Given the description of an element on the screen output the (x, y) to click on. 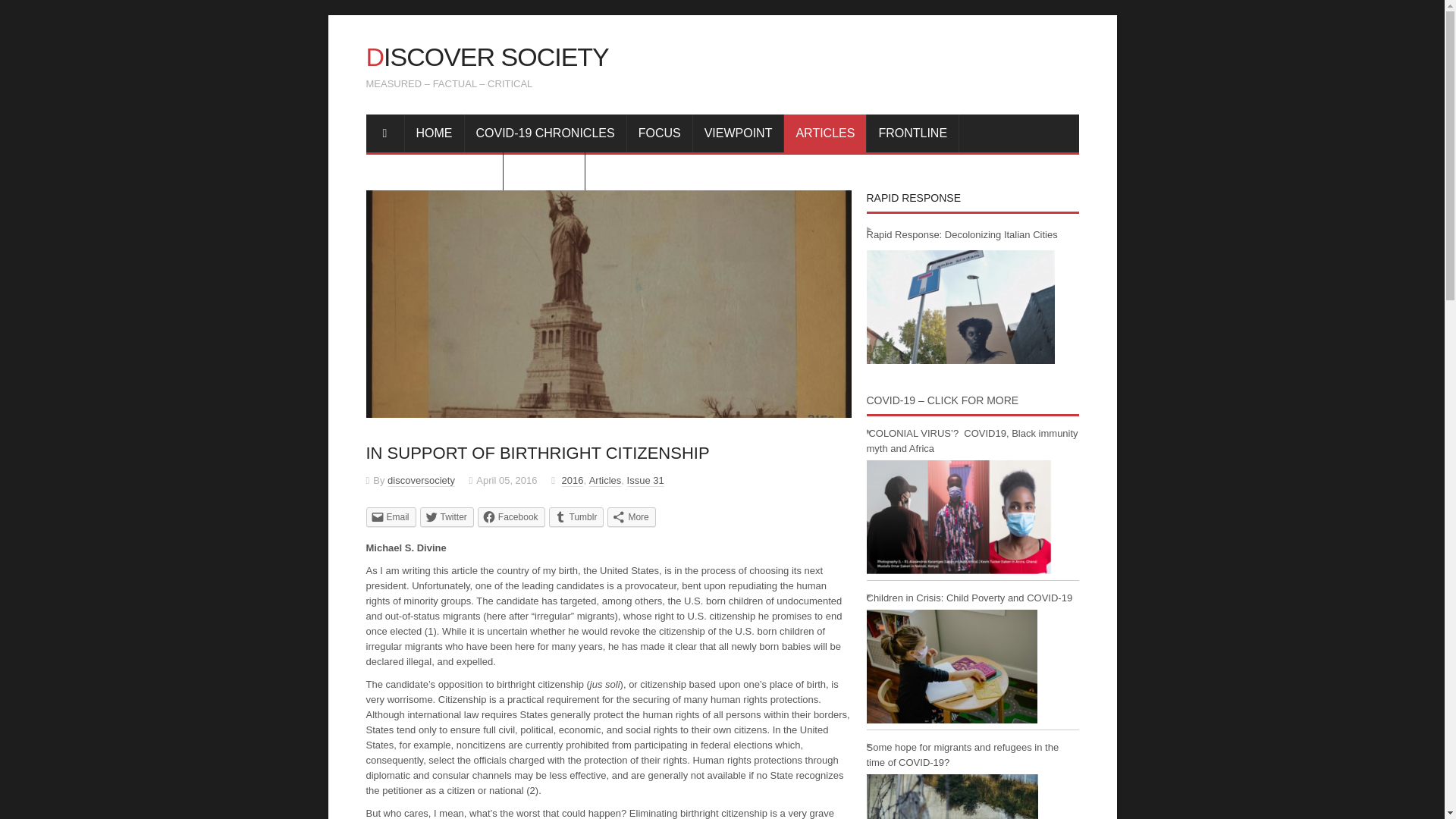
Issue 31 (645, 480)
discoversociety (420, 480)
HOME (434, 132)
Click to share on Tumblr (576, 516)
Tumblr (576, 516)
FOCUS (660, 132)
Click to share on Facebook (510, 516)
Email (389, 516)
FRONTLINE (912, 132)
COVID-19 CHRONICLES (545, 132)
